Given the description of an element on the screen output the (x, y) to click on. 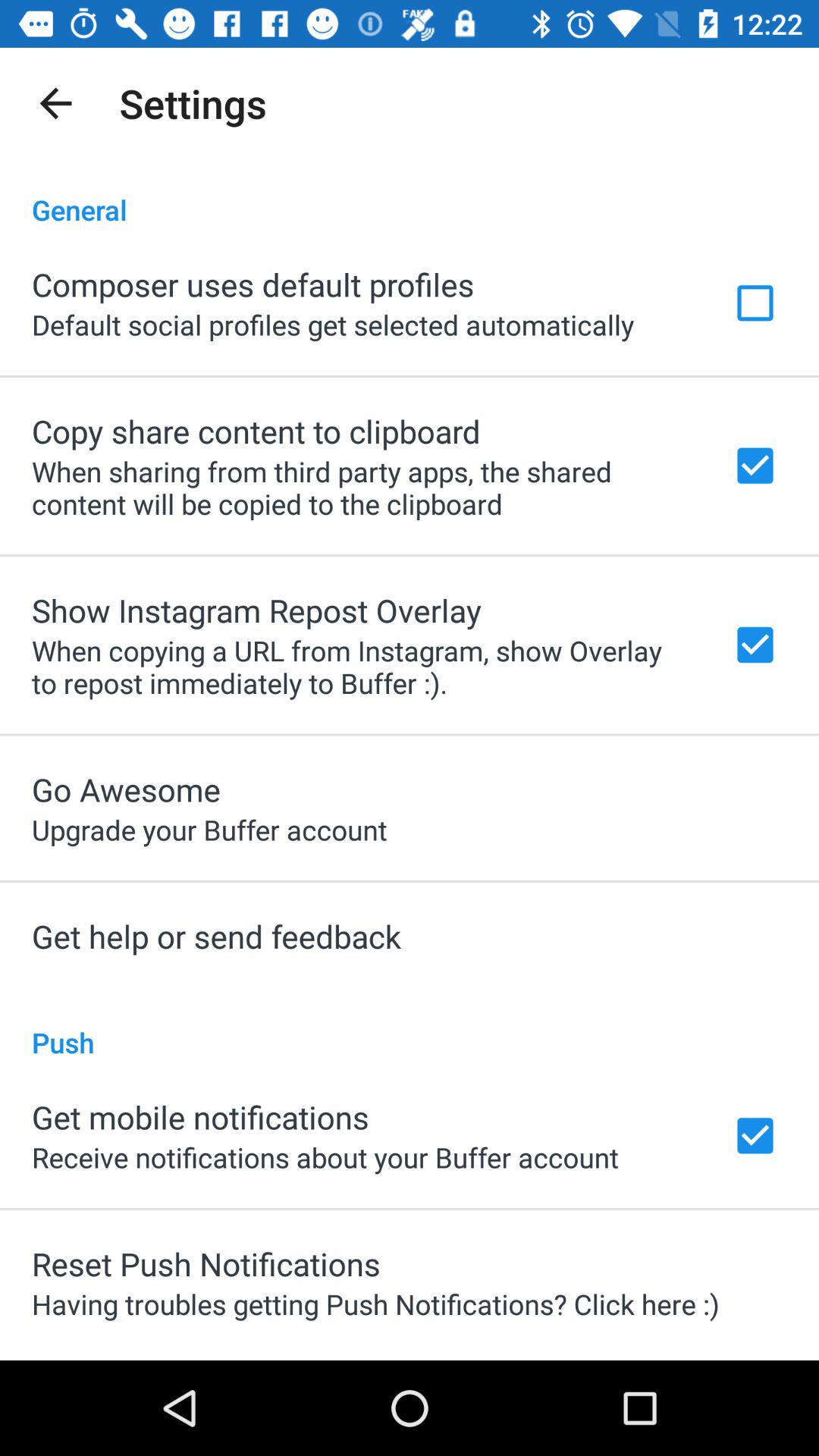
flip until general (409, 193)
